Given the description of an element on the screen output the (x, y) to click on. 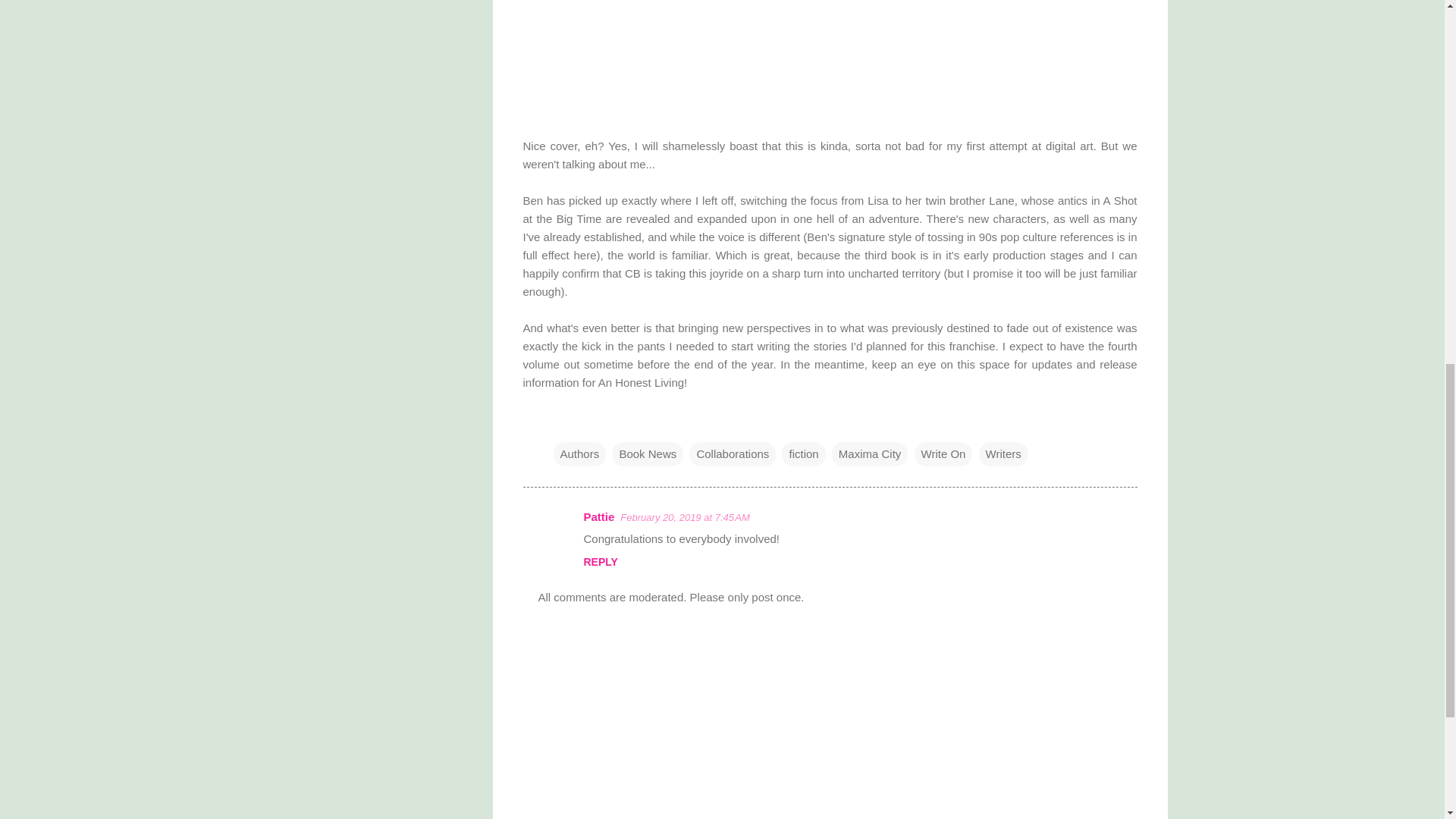
Book News (646, 453)
Maxima City (869, 453)
Writers (1002, 453)
Authors (580, 453)
REPLY (600, 562)
Pattie (598, 516)
Write On (943, 453)
fiction (803, 453)
Collaborations (732, 453)
